Given the description of an element on the screen output the (x, y) to click on. 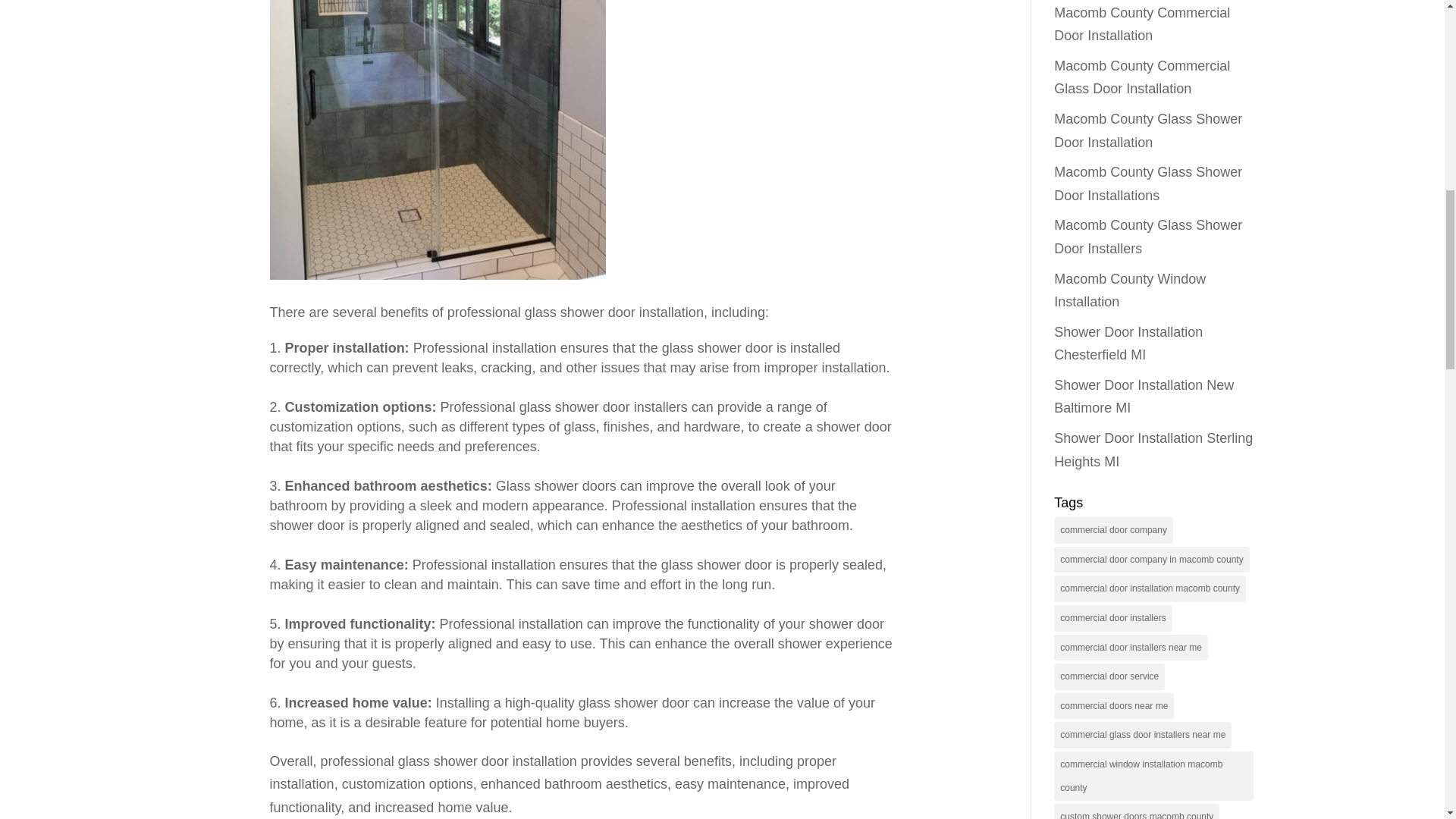
commercial door company (1113, 529)
commercial door installers near me (1131, 647)
Macomb County Glass Shower Door Installations (1147, 183)
Shower Door Installation Chesterfield MI (1128, 343)
Macomb County Glass Shower Door Installers (1147, 236)
commercial door company in macomb county (1151, 560)
commercial door installation macomb county (1150, 588)
Shower Door Installation New Baltimore MI (1143, 396)
Shower Door Installation Sterling Heights MI (1153, 449)
commercial door service (1109, 676)
